Given the description of an element on the screen output the (x, y) to click on. 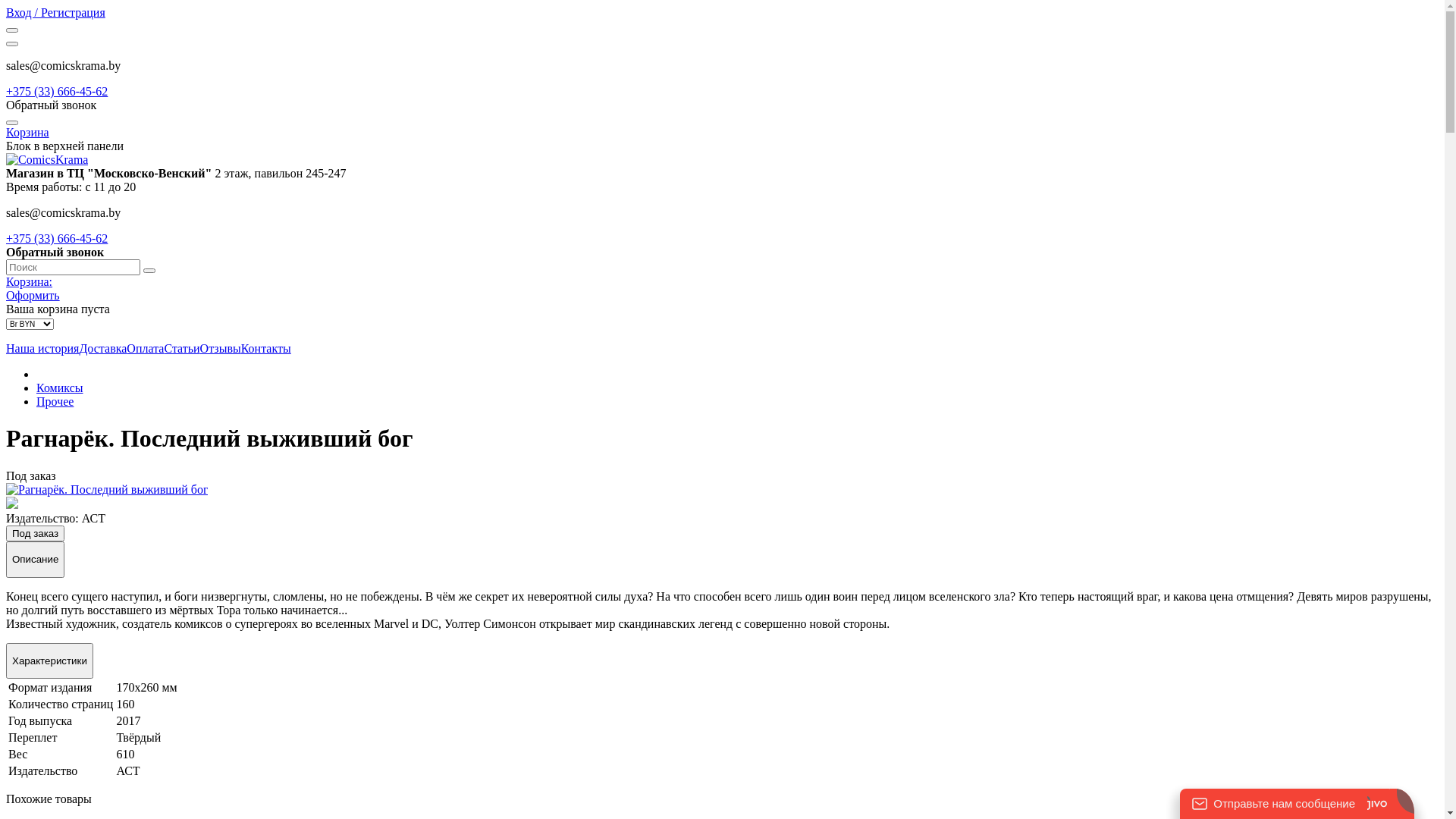
+375 (33) 666-45-62 Element type: text (56, 90)
ComicsKrama Element type: hover (46, 159)
+375 (33) 666-45-62 Element type: text (56, 238)
ComicsKrama Element type: hover (46, 159)
